Given the description of an element on the screen output the (x, y) to click on. 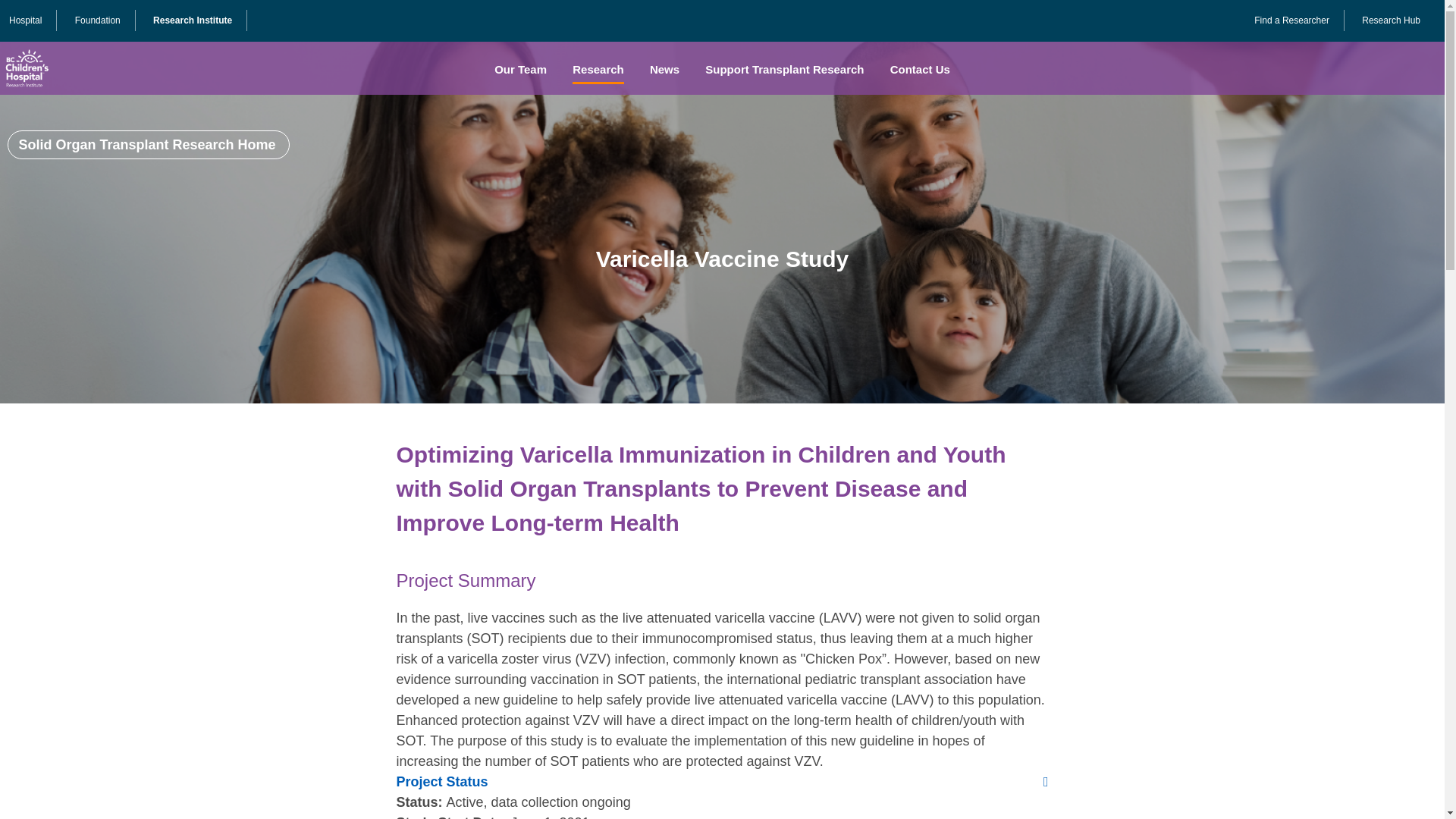
News (664, 69)
Research (598, 69)
Research Institute (191, 20)
Find a Researcher (1291, 20)
Support Transplant Research (783, 69)
Home (26, 68)
Research Hub (1391, 20)
Our Team (521, 69)
Solid Organ Transplant Research Home (148, 144)
